Given the description of an element on the screen output the (x, y) to click on. 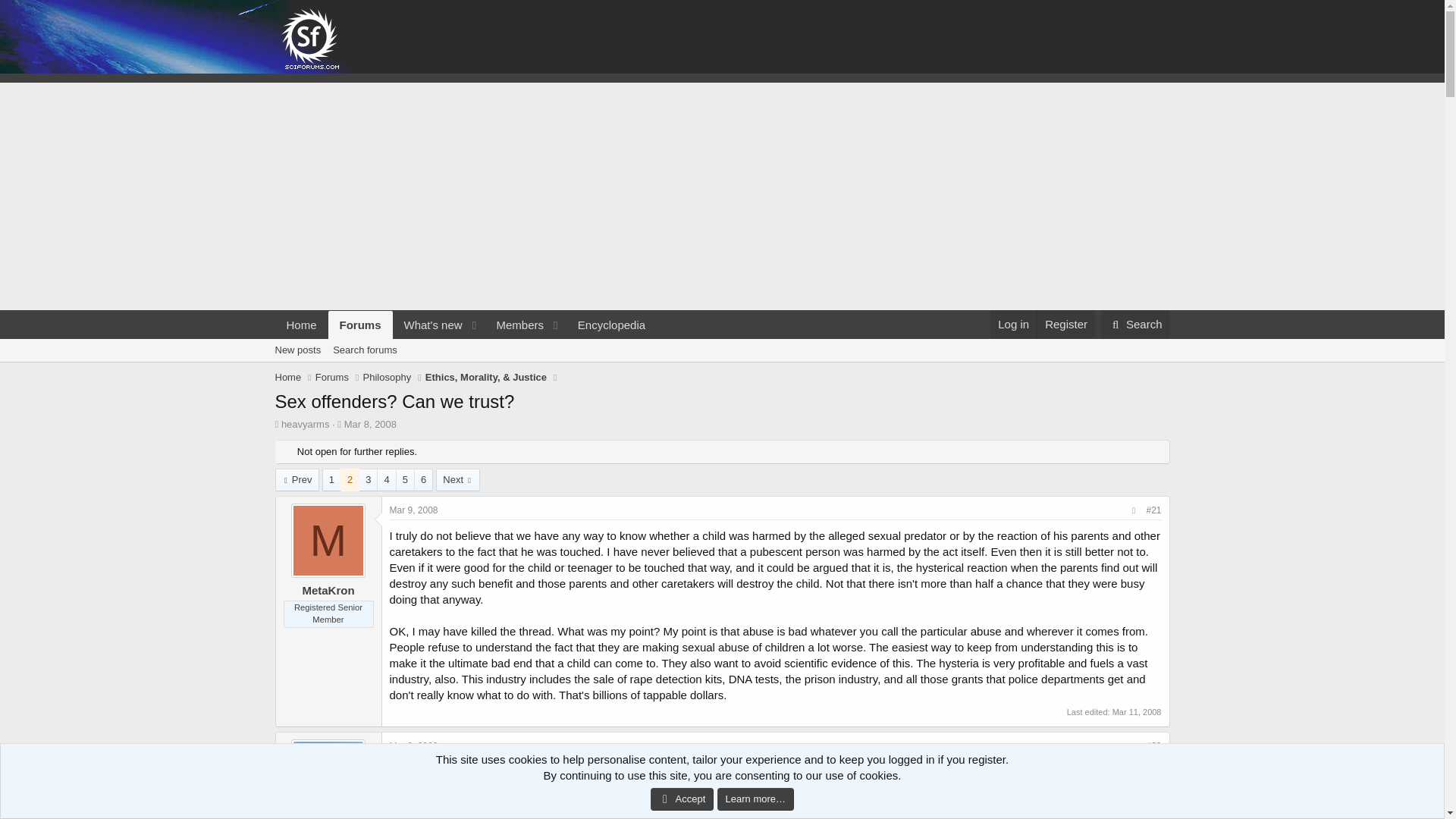
Forums (332, 377)
Search forums (364, 350)
Search (1135, 324)
Search (464, 342)
Advertisement (1135, 324)
New posts (1136, 711)
Encyclopedia (296, 350)
Eek!    :eek: (611, 325)
